Given the description of an element on the screen output the (x, y) to click on. 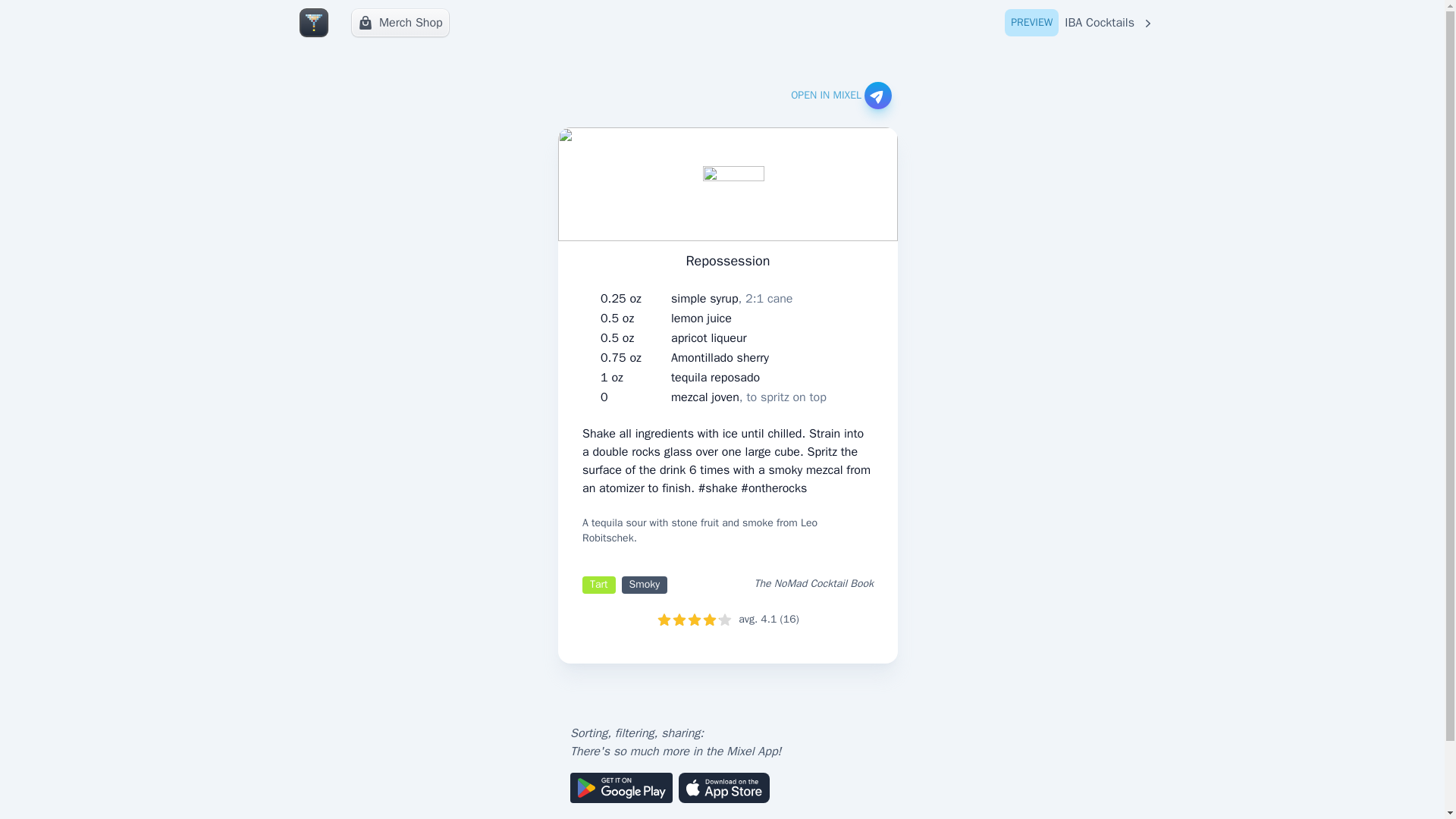
lemon juice (701, 318)
apricot liqueur (1079, 22)
OPEN IN MIXEL (708, 338)
Merch Shop (840, 94)
simple syrup, 2:1 cane (400, 22)
tequila reposado (731, 298)
mezcal joven, to spritz on top (715, 377)
Amontillado sherry (749, 397)
